Given the description of an element on the screen output the (x, y) to click on. 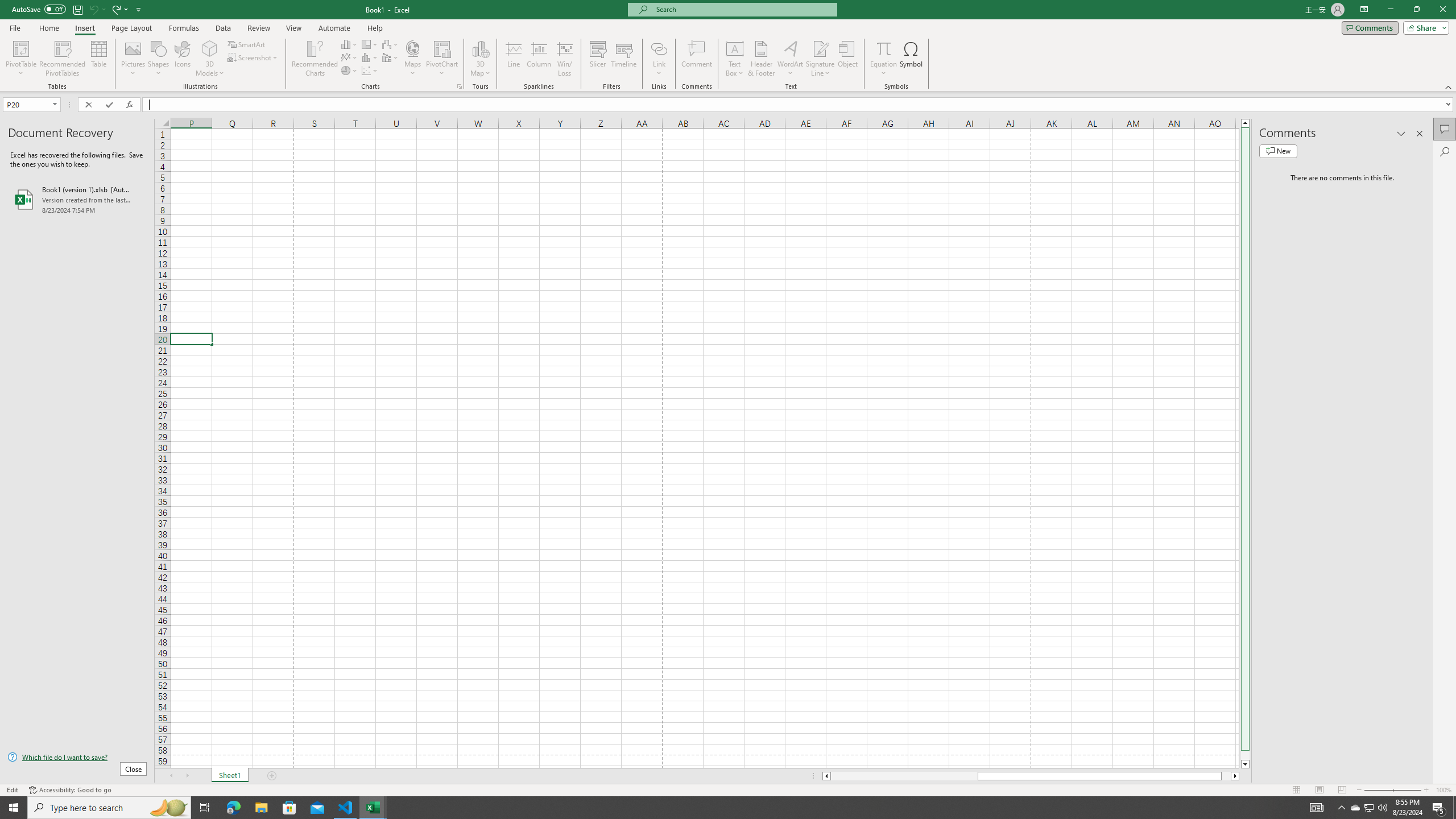
Column right (1235, 775)
Line up (1245, 122)
Accessibility Checker Accessibility: Good to go (70, 790)
3D Models (210, 48)
Save (77, 9)
Link (659, 48)
3D Map (480, 48)
PivotChart (442, 48)
Insert Line or Area Chart (349, 56)
Insert Column or Bar Chart (349, 44)
Recommended PivotTables (62, 58)
Zoom (1392, 790)
File Tab (15, 27)
Symbol... (911, 58)
Insert Hierarchy Chart (369, 44)
